Given the description of an element on the screen output the (x, y) to click on. 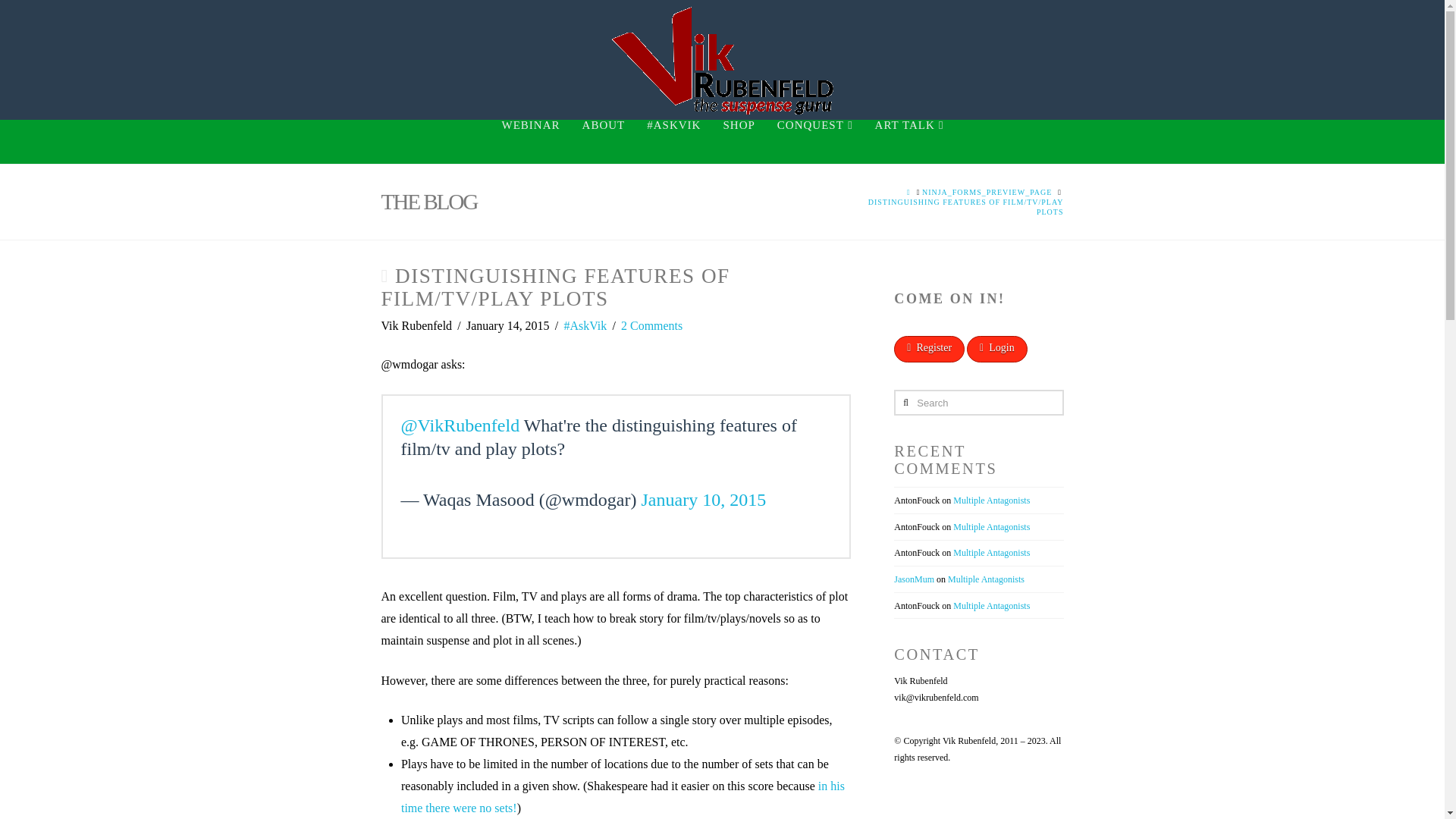
WEBINAR (530, 141)
CONQUEST (814, 141)
You Are Here (960, 207)
Login (996, 348)
ART TALK (909, 141)
Register (928, 348)
SHOP (738, 141)
2 Comments (651, 325)
ABOUT (603, 141)
